Given the description of an element on the screen output the (x, y) to click on. 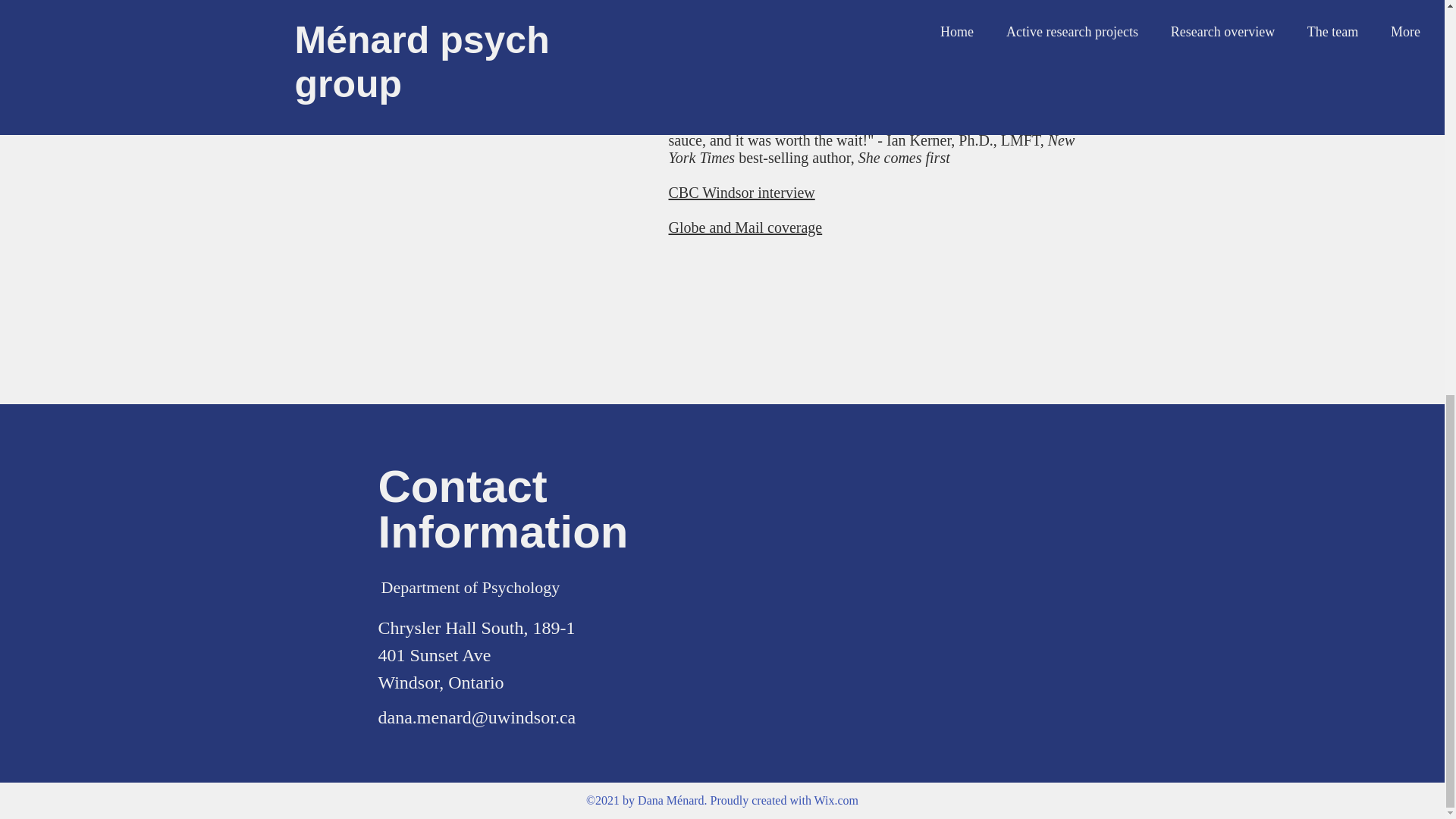
Wix.com (836, 799)
CBC Windsor interview (741, 192)
Globe and Mail coverage (745, 227)
